Given the description of an element on the screen output the (x, y) to click on. 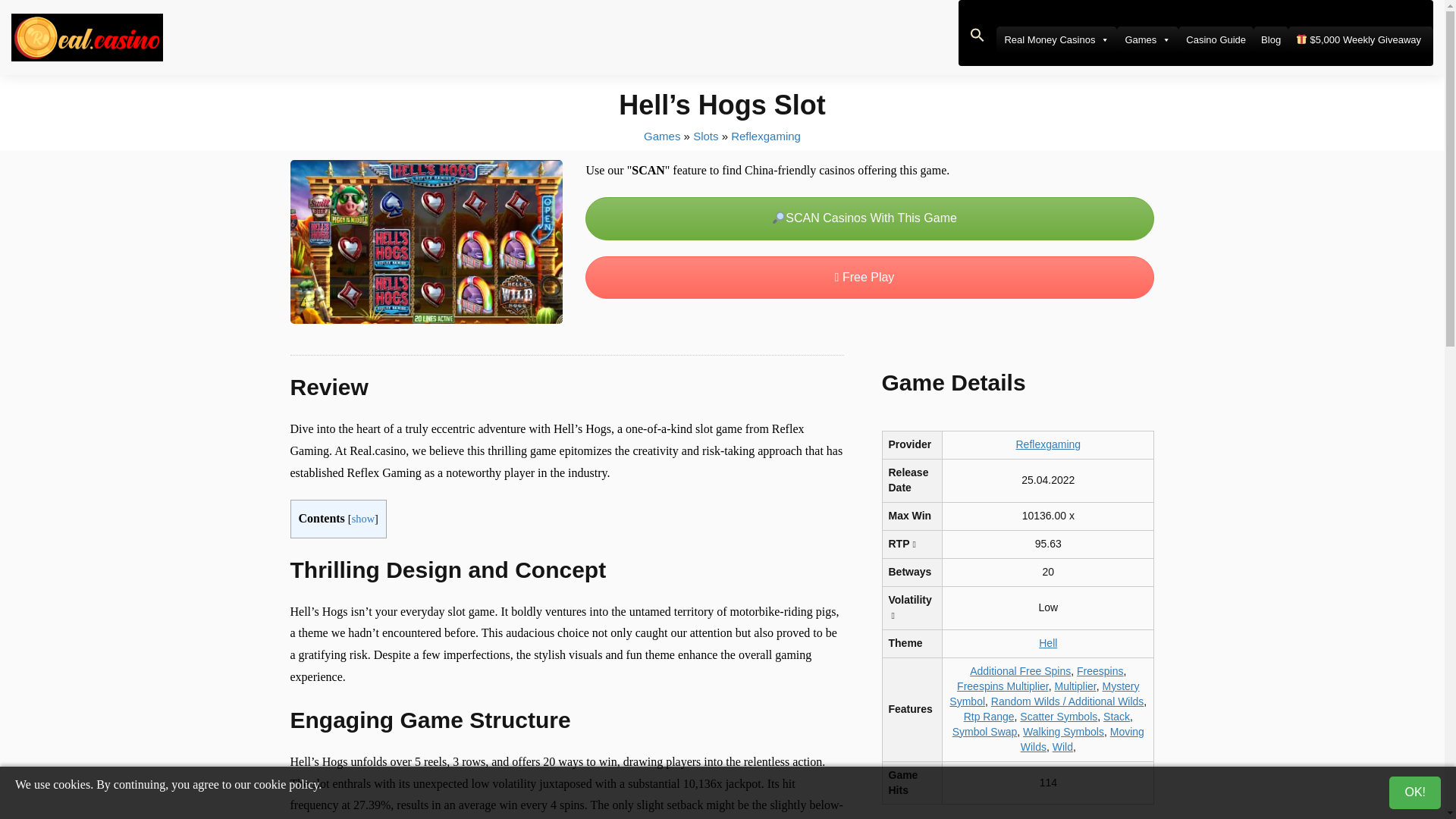
Real Money Casinos (1055, 39)
Online Slots (705, 135)
Games (1146, 39)
Online Casino Games (661, 135)
Reflexgaming Slots (765, 135)
